Given the description of an element on the screen output the (x, y) to click on. 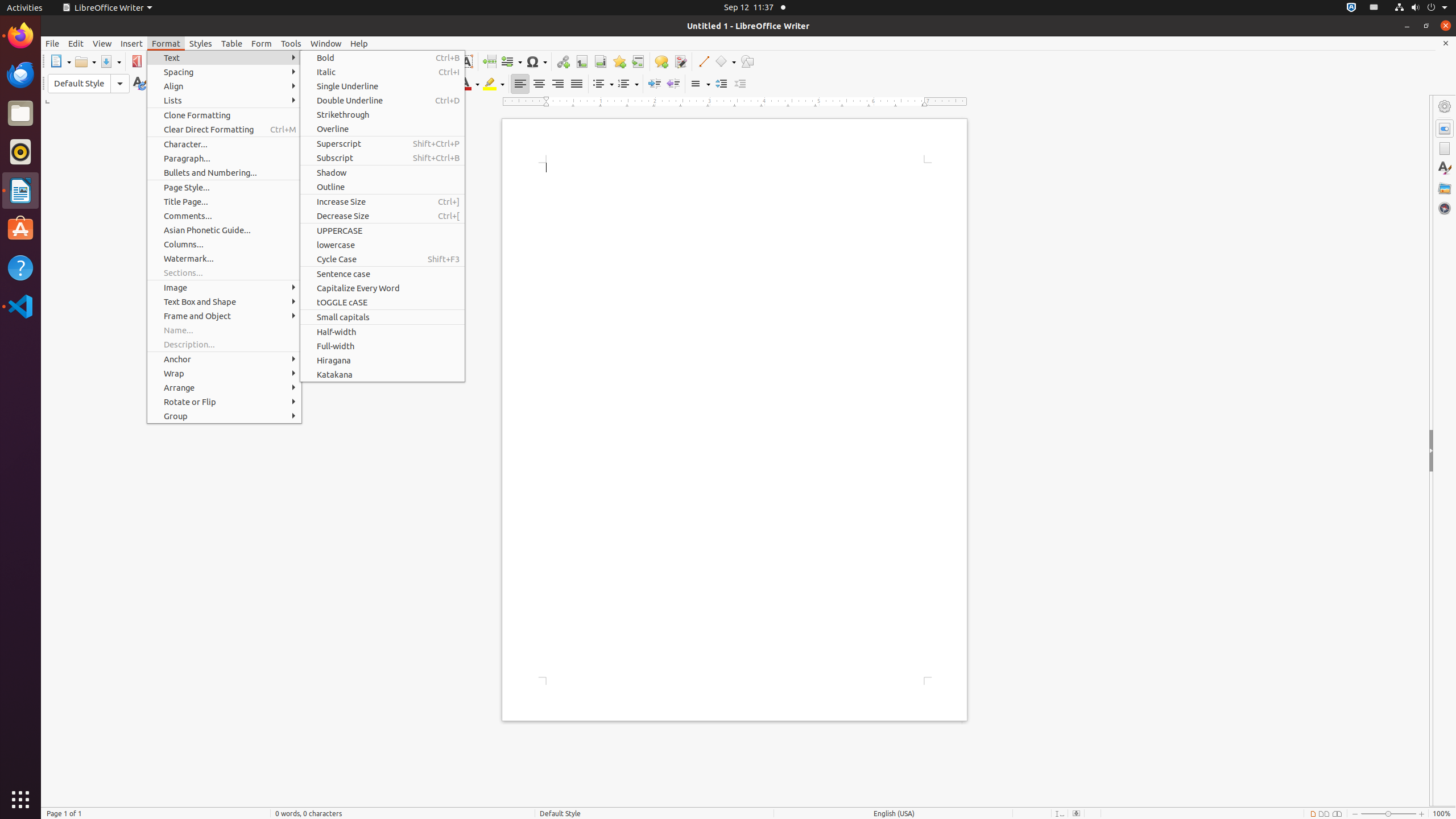
System Element type: menu (1420, 7)
Table Element type: menu (231, 43)
Comments... Element type: menu-item (224, 215)
Formatting Marks Element type: toggle-button (379, 61)
Strikethrough Element type: toggle-button (376, 83)
